Given the description of an element on the screen output the (x, y) to click on. 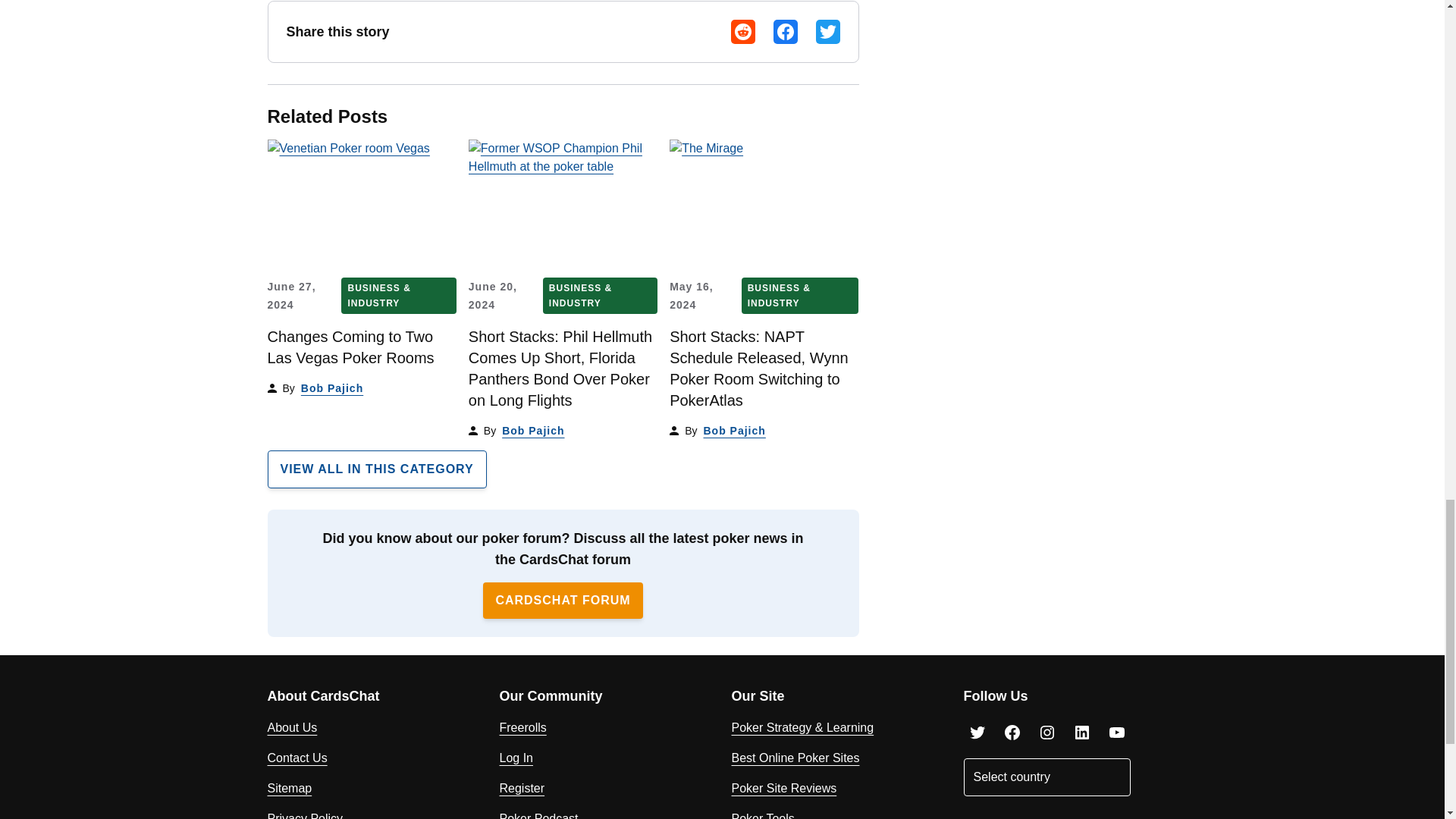
Share on Twitter (827, 31)
Share on Reddit (742, 31)
Share on Facebook (785, 31)
